Given the description of an element on the screen output the (x, y) to click on. 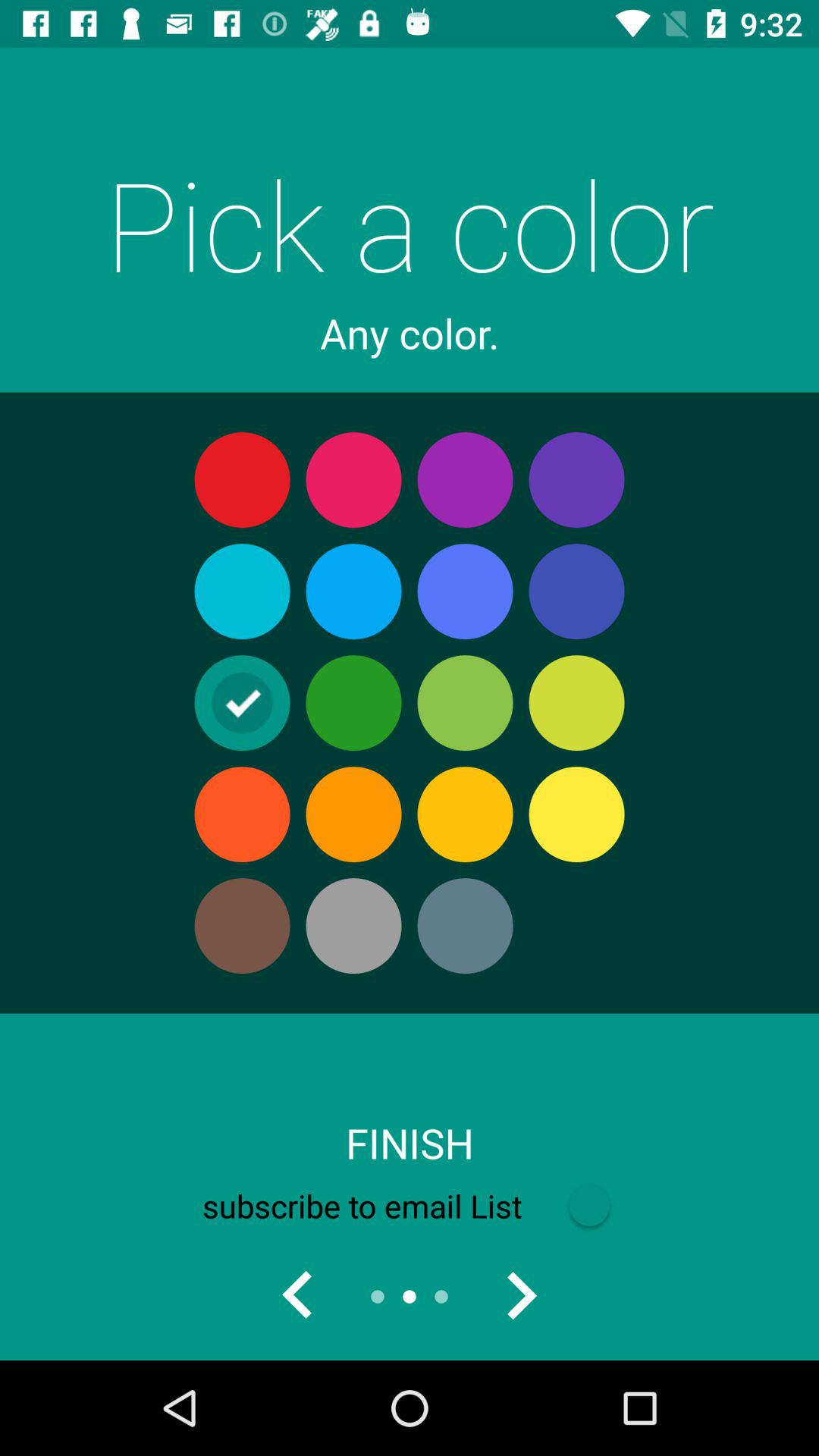
turn on the item below the subscribe to email icon (297, 1296)
